Given the description of an element on the screen output the (x, y) to click on. 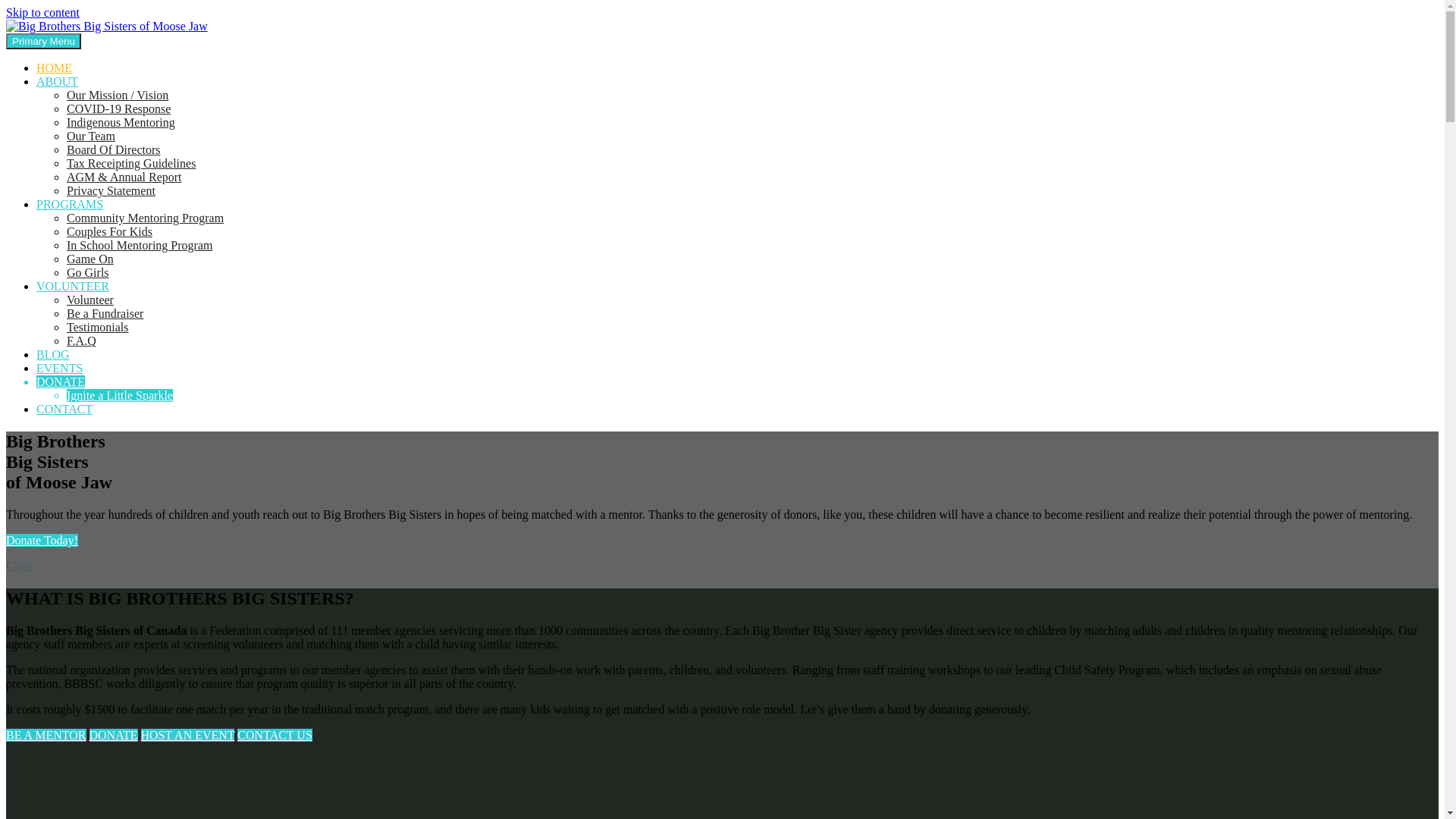
HOST AN EVENT Element type: text (188, 734)
Close Element type: text (19, 565)
Couples For Kids Element type: text (109, 231)
Privacy Statement Element type: text (110, 190)
PROGRAMS Element type: text (69, 203)
F.A.Q Element type: text (81, 340)
Donate Today! Element type: text (42, 539)
BLOG Element type: text (52, 354)
CONTACT Element type: text (64, 408)
Big Brothers Big Sisters of Moose Jaw Element type: text (100, 51)
Our Mission / Vision Element type: text (117, 94)
Skip to content Element type: text (42, 12)
Game On Element type: text (89, 258)
Be a Fundraiser Element type: text (104, 313)
ABOUT Element type: text (57, 81)
DONATE Element type: text (60, 381)
Indigenous Mentoring Element type: text (120, 122)
Primary Menu Element type: text (43, 41)
BE A MENTOR Element type: text (46, 734)
EVENTS Element type: text (59, 367)
Go Girls Element type: text (87, 272)
COVID-19 Response Element type: text (118, 108)
Testimonials Element type: text (97, 326)
HOME Element type: text (54, 67)
Volunteer Element type: text (89, 299)
VOLUNTEER Element type: text (72, 285)
DONATE Element type: text (113, 734)
Board Of Directors Element type: text (113, 149)
Tax Receipting Guidelines Element type: text (130, 162)
Ignite a Little Sparkle Element type: text (119, 395)
Our Team Element type: text (90, 135)
In School Mentoring Program Element type: text (139, 244)
AGM & Annual Report Element type: text (124, 176)
CONTACT US Element type: text (274, 734)
Community Mentoring Program Element type: text (144, 217)
